Given the description of an element on the screen output the (x, y) to click on. 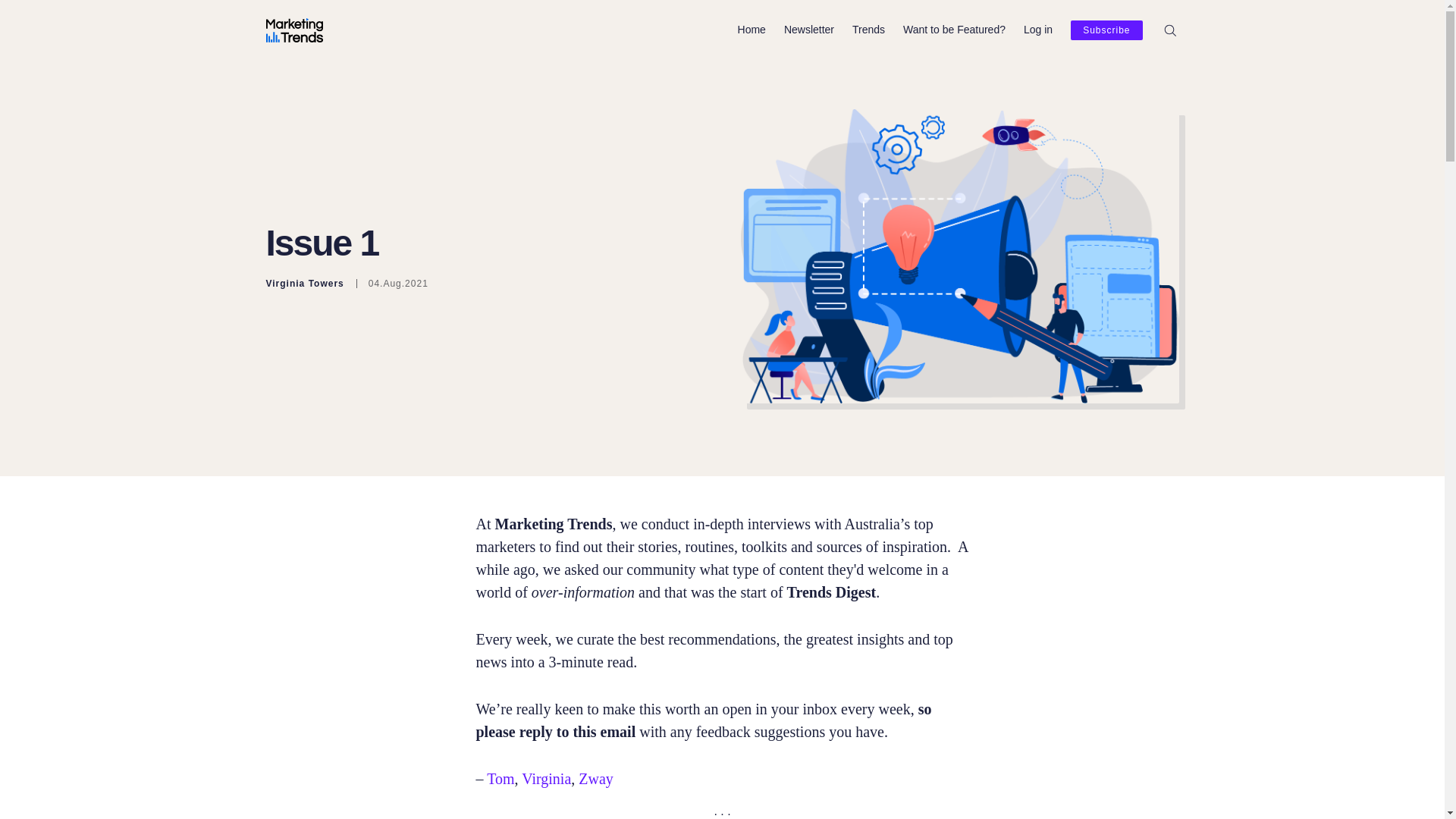
Virginia (545, 778)
Trends (868, 29)
Subscribe (1105, 30)
Want to be Featured? (954, 29)
Virginia Towers (303, 283)
Zway (595, 778)
Newsletter (809, 29)
Tom (499, 778)
Log in (1037, 29)
04 August 2021 (392, 283)
Home (751, 29)
